Given the description of an element on the screen output the (x, y) to click on. 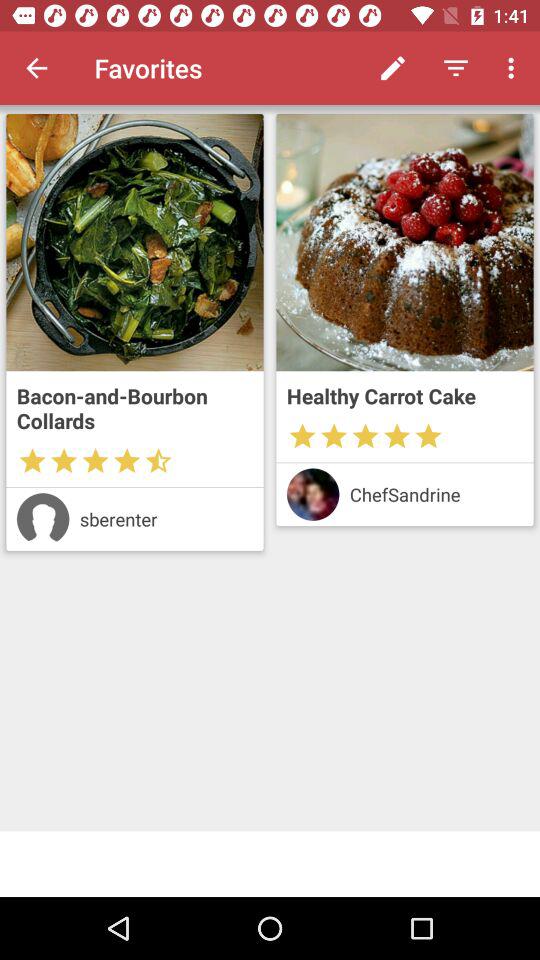
scroll to bacon and bourbon item (134, 408)
